Given the description of an element on the screen output the (x, y) to click on. 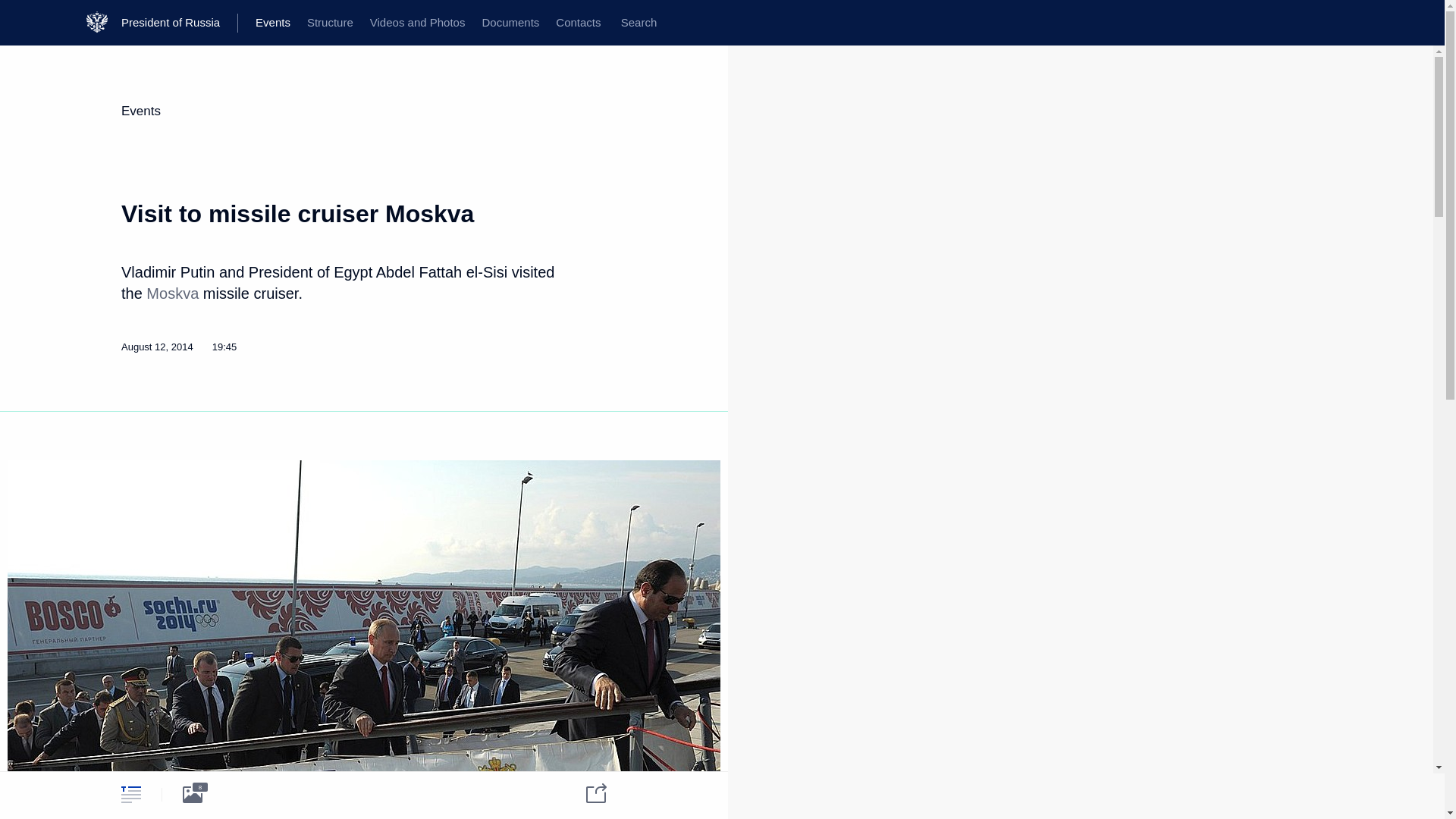
Global website search (638, 22)
Portal Menu (24, 22)
Search (638, 22)
President of Russia (179, 22)
Events (272, 22)
Documents (510, 22)
Events (140, 110)
Photo (191, 794)
Text (130, 794)
Share (586, 793)
Structure (329, 22)
Contacts (577, 22)
Videos and Photos (417, 22)
